Given the description of an element on the screen output the (x, y) to click on. 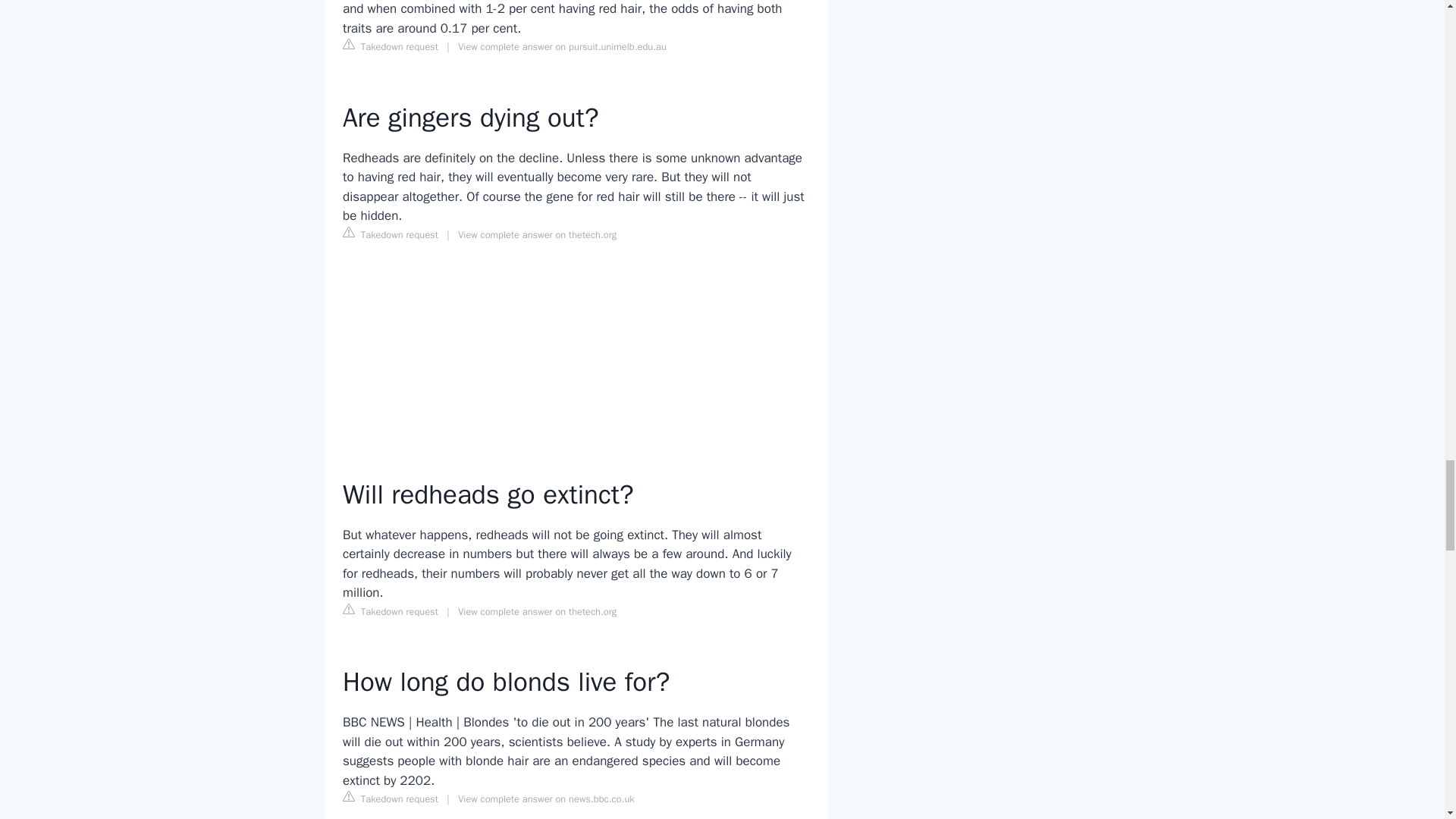
Takedown request (390, 610)
View complete answer on pursuit.unimelb.edu.au (562, 46)
View complete answer on thetech.org (536, 234)
Takedown request (390, 45)
Takedown request (390, 234)
